Given the description of an element on the screen output the (x, y) to click on. 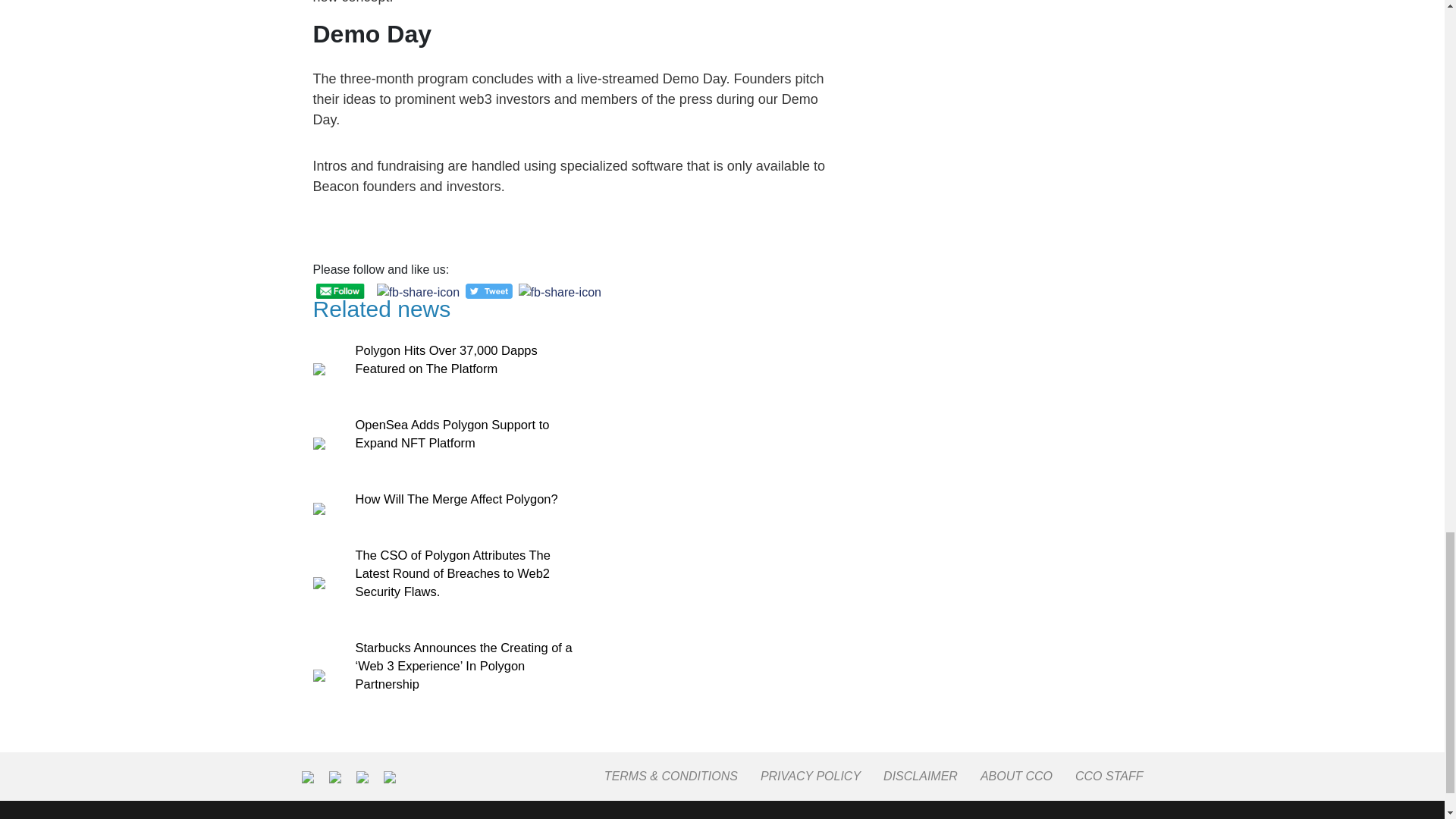
OpenSea Adds Polygon Support to Expand NFT Platform (451, 433)
How Will The Merge Affect Polygon? (456, 499)
Polygon Hits Over 37,000 Dapps Featured on The Platform (446, 359)
